Given the description of an element on the screen output the (x, y) to click on. 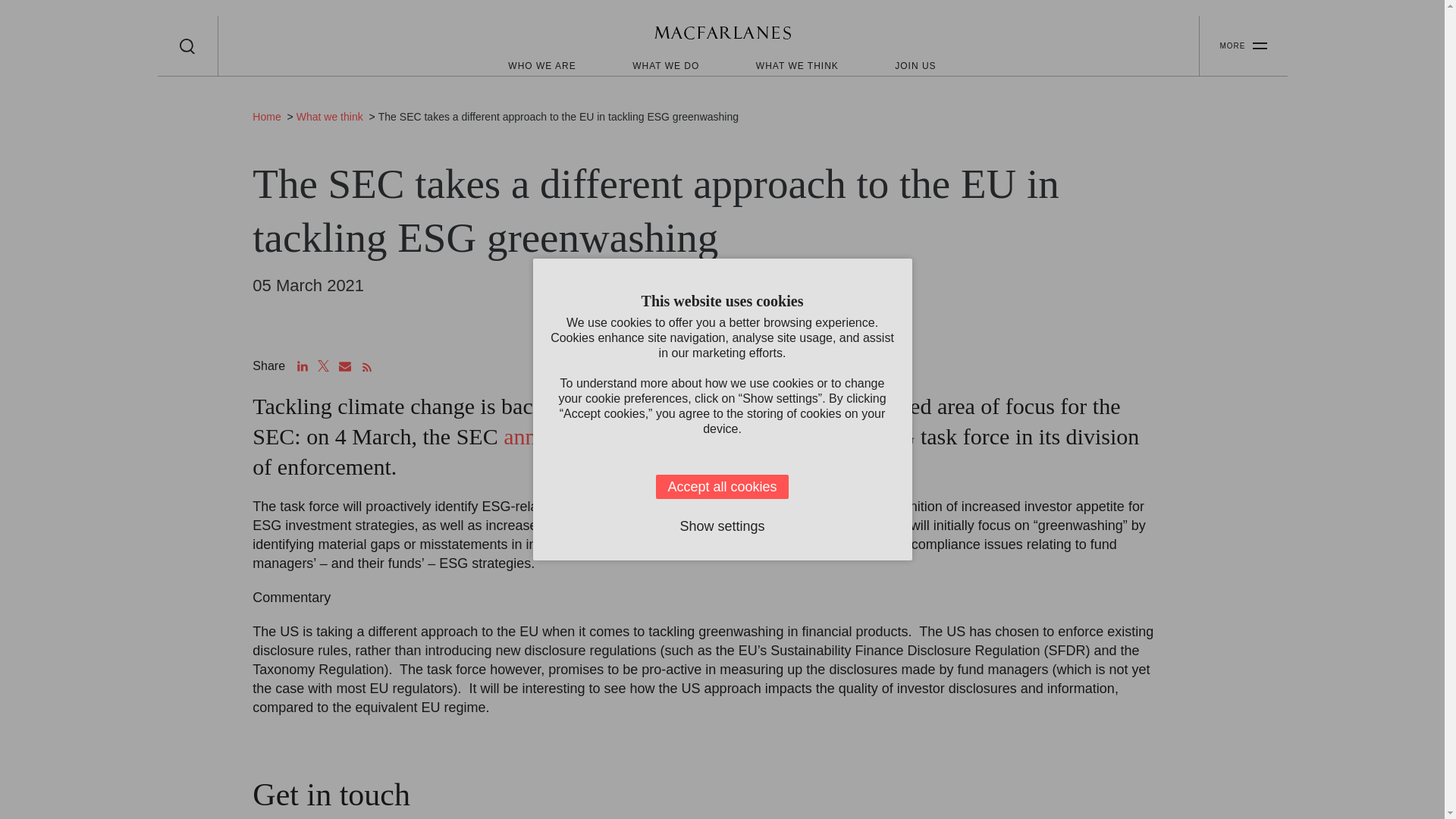
WHAT WE THINK (796, 65)
Search (187, 46)
WHAT WE DO (664, 65)
MACFARLANES (721, 35)
WHO WE ARE (541, 65)
